Given the description of an element on the screen output the (x, y) to click on. 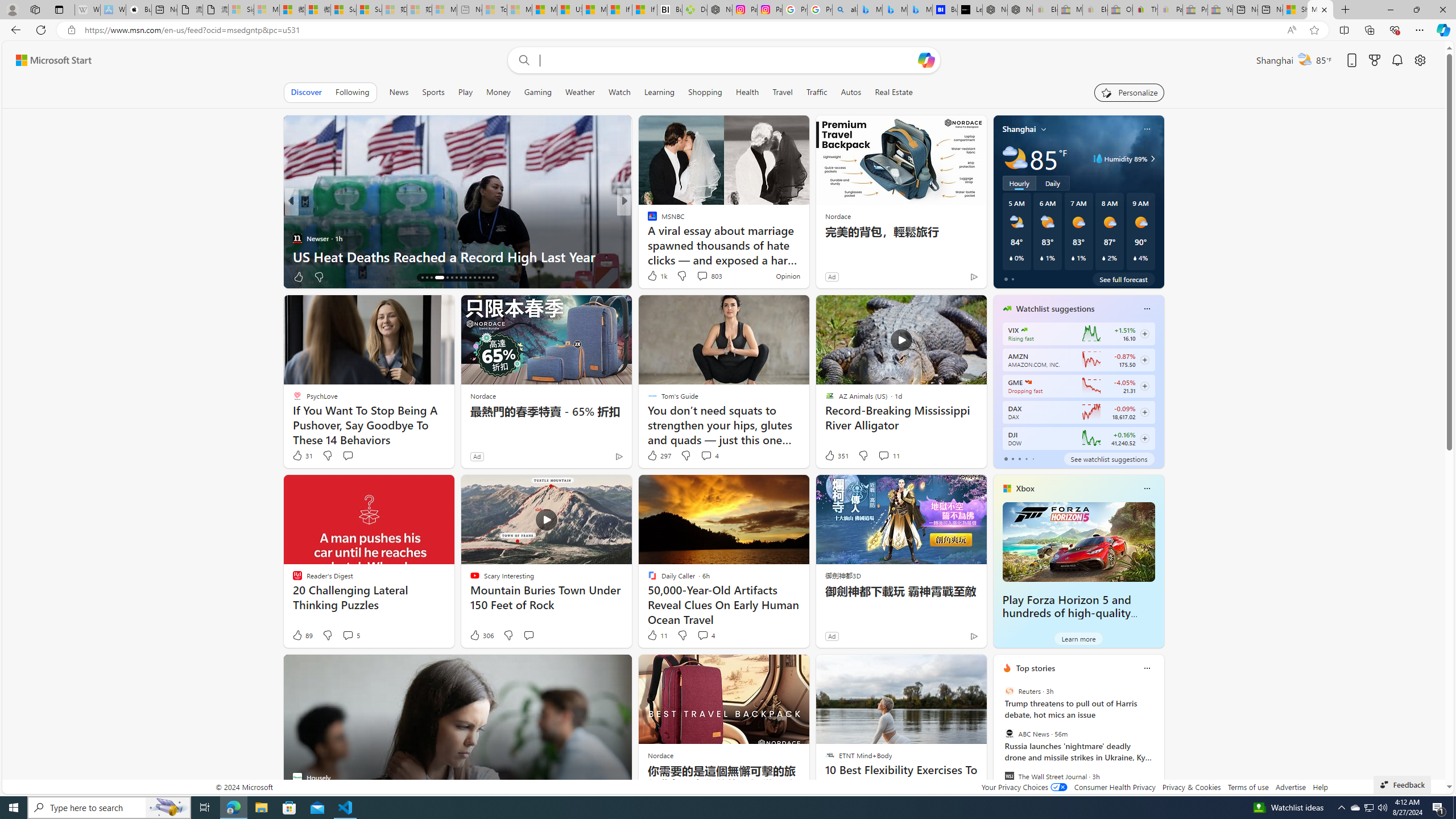
94 Like (652, 276)
Yard, Garden & Outdoor Living - Sleeping (1219, 9)
31 Like (301, 455)
AutomationID: tab-19 (439, 277)
Payments Terms of Use | eBay.com - Sleeping (1170, 9)
AutomationID: tab-30 (492, 277)
Personalize your feed" (1129, 92)
